Given the description of an element on the screen output the (x, y) to click on. 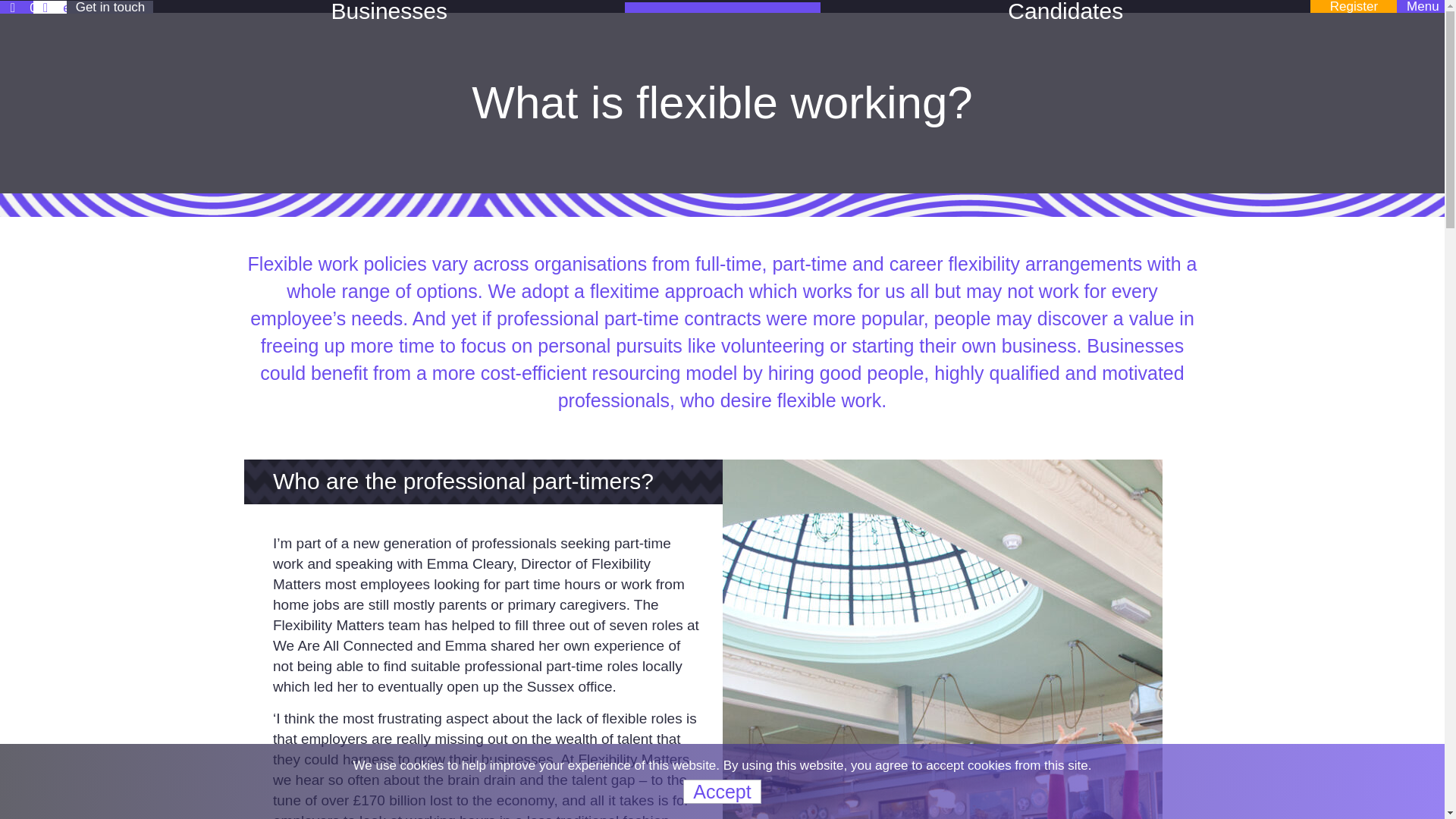
07810 541599 (61, 7)
Accept (721, 791)
Register (1353, 6)
Get in touch (109, 6)
